Given the description of an element on the screen output the (x, y) to click on. 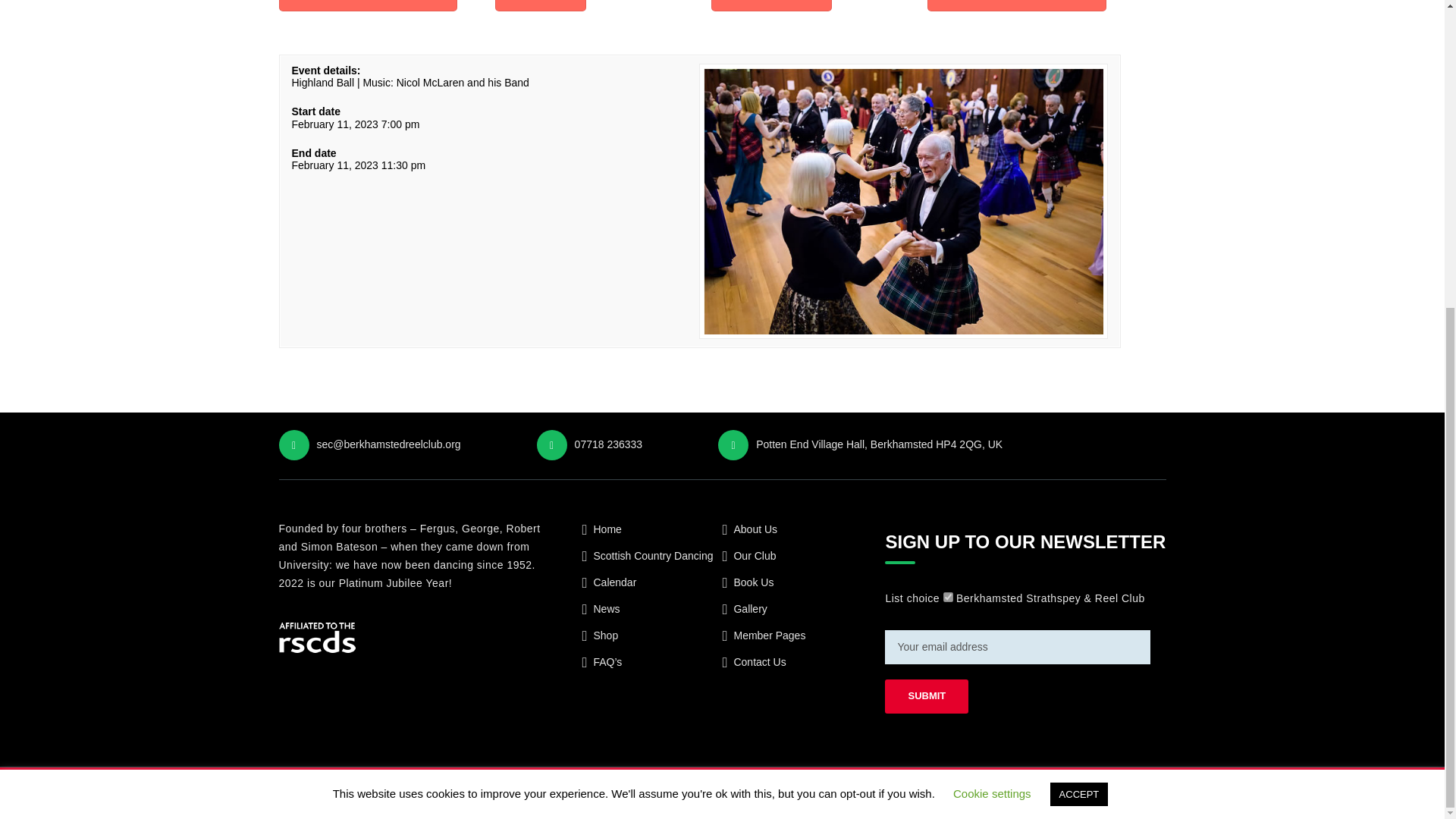
Our Club (754, 555)
Calendar (614, 582)
Home (606, 529)
Ball Practice Event (771, 5)
Google Maps link for Allum Hall (1016, 5)
Scottish Country Dancing (652, 555)
91cb257d6d (948, 596)
About Us (755, 529)
Bank Details (540, 5)
Book Us (753, 582)
SUBMIT (926, 696)
